Given the description of an element on the screen output the (x, y) to click on. 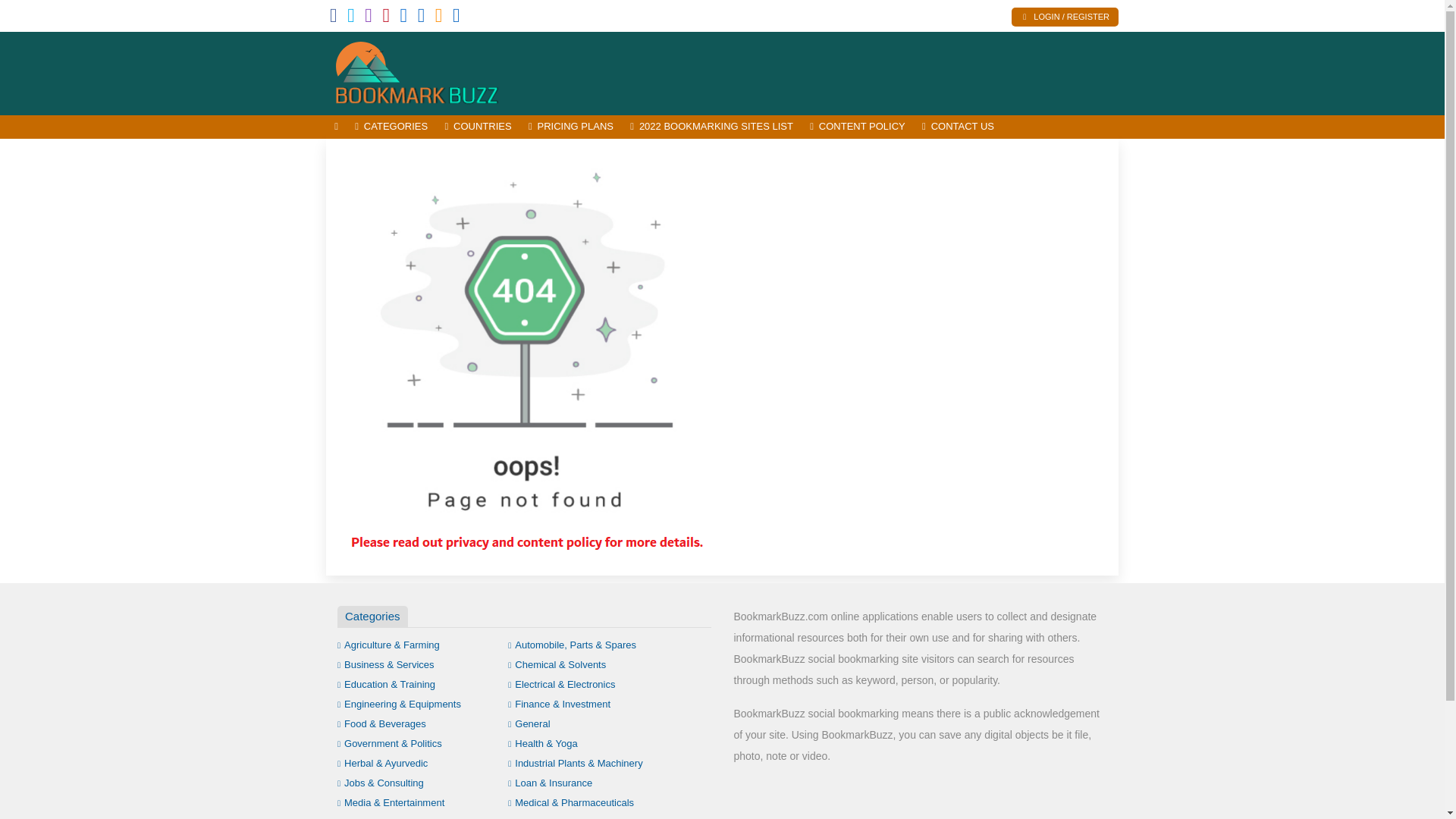
CATEGORIES (390, 126)
General (529, 723)
2022 BOOKMARKING SITES LIST (711, 126)
CONTENT POLICY (858, 126)
COUNTRIES (477, 126)
PRICING PLANS (570, 126)
CONTACT US (958, 126)
